Given the description of an element on the screen output the (x, y) to click on. 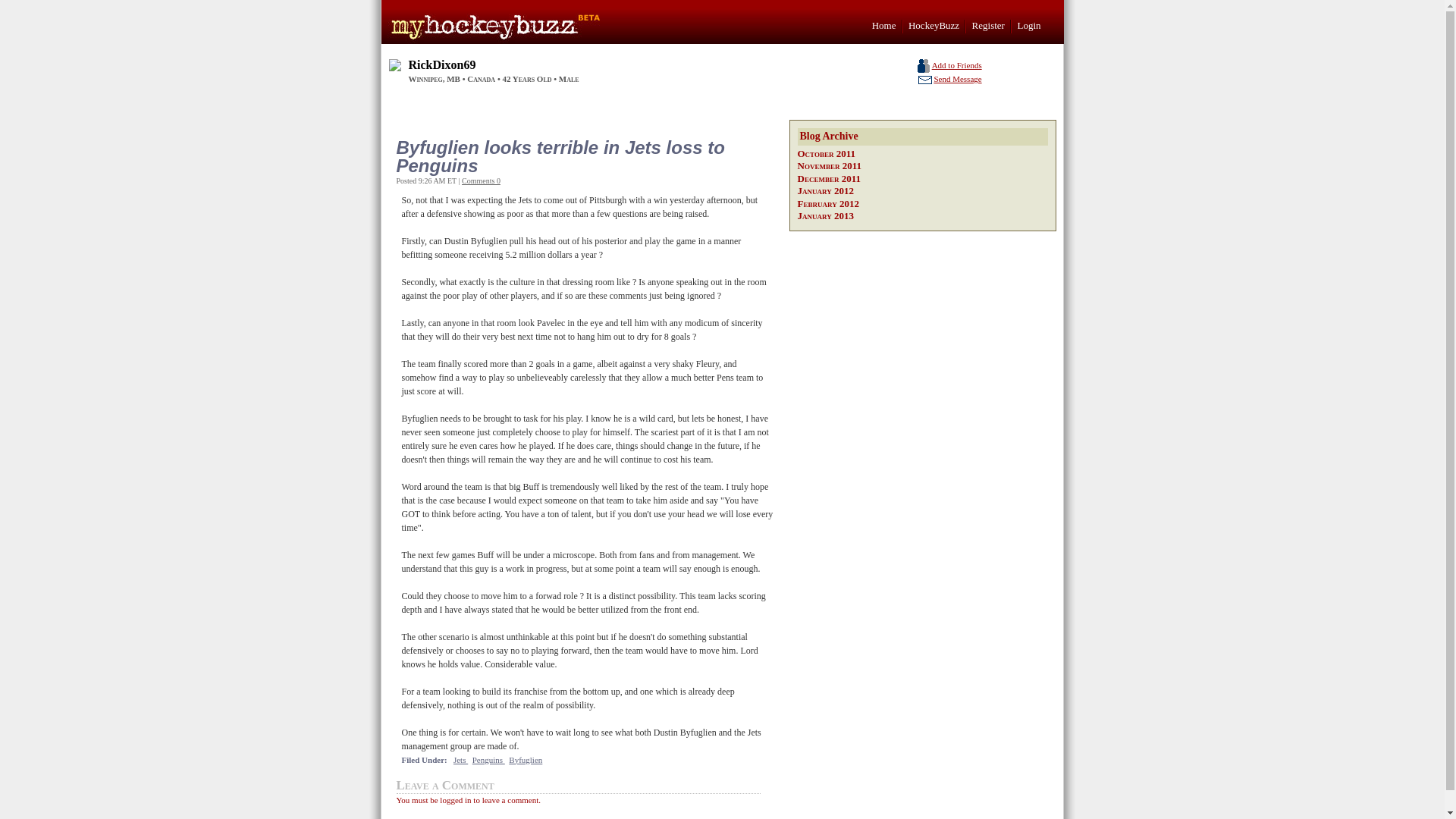
Blog Archive (922, 136)
Home (884, 25)
Byfuglien looks terrible in Jets loss to Penguins (581, 156)
Login (1028, 25)
RickDixon69 (441, 64)
Byfuglien (524, 759)
Register (988, 25)
Jets (459, 759)
Penguins (488, 759)
Send Message (957, 78)
HockeyBuzz (933, 25)
November 2011 (829, 165)
October 2011 (826, 152)
Comments 0 (480, 180)
Add to Friends (956, 64)
